Given the description of an element on the screen output the (x, y) to click on. 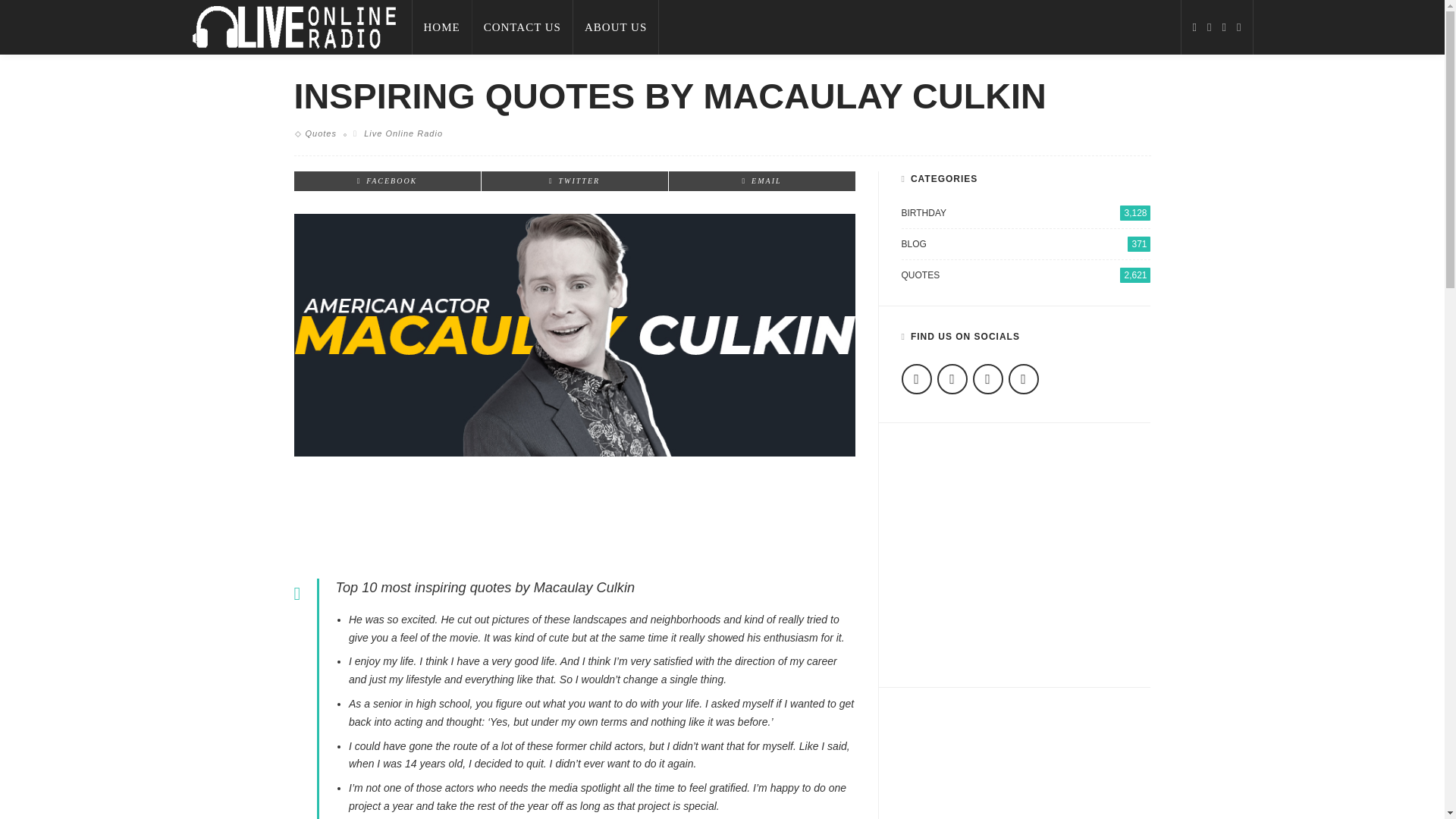
TWITTER (573, 180)
Live Online Radio (403, 133)
FACEBOOK (386, 180)
Quotes (320, 133)
ABOUT US (616, 27)
EMAIL (760, 180)
HOME (440, 27)
Live Online Radio Blog (293, 26)
Advertisement (574, 513)
Quotes (320, 133)
